Given the description of an element on the screen output the (x, y) to click on. 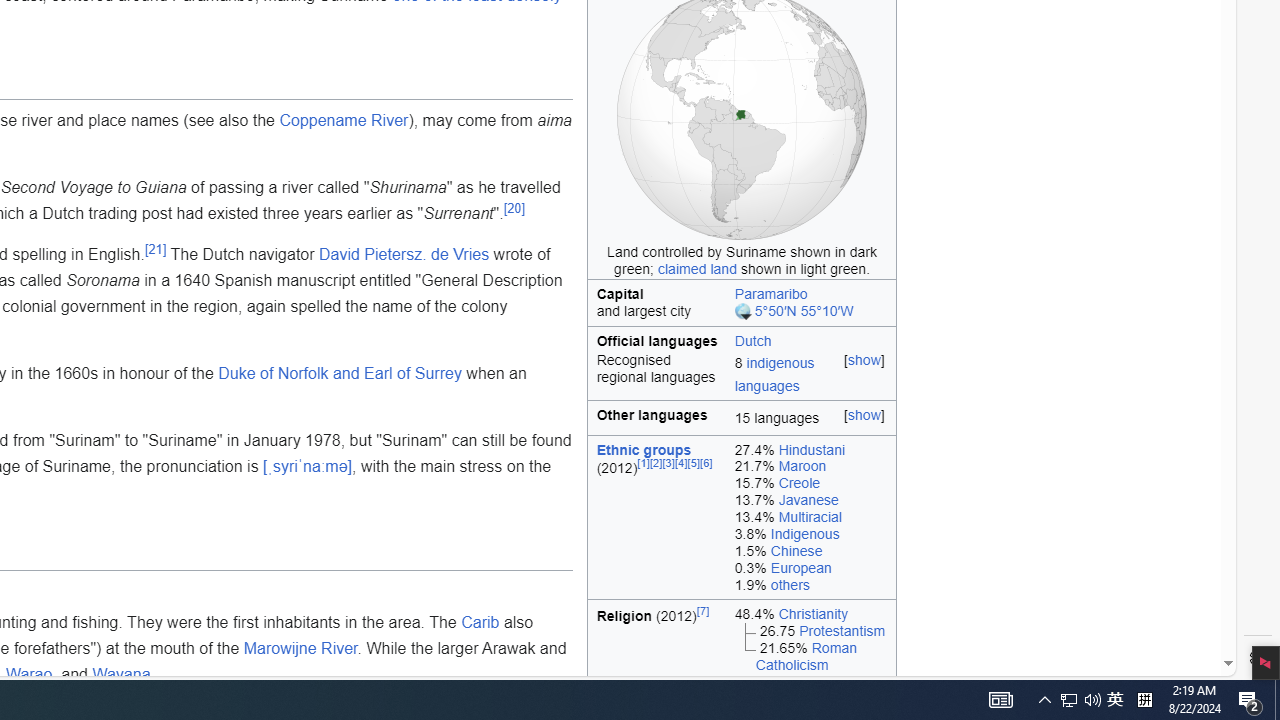
Hinduism (808, 681)
15.7% Creole (810, 484)
Christianity (813, 613)
Hindustani (812, 448)
Roman Catholicism (806, 656)
Marowijne River (300, 647)
27.4% Hindustani (810, 449)
[21] (154, 249)
[4] (681, 463)
Chinese (796, 550)
[7] (703, 610)
others (790, 584)
Maroon (802, 466)
